Given the description of an element on the screen output the (x, y) to click on. 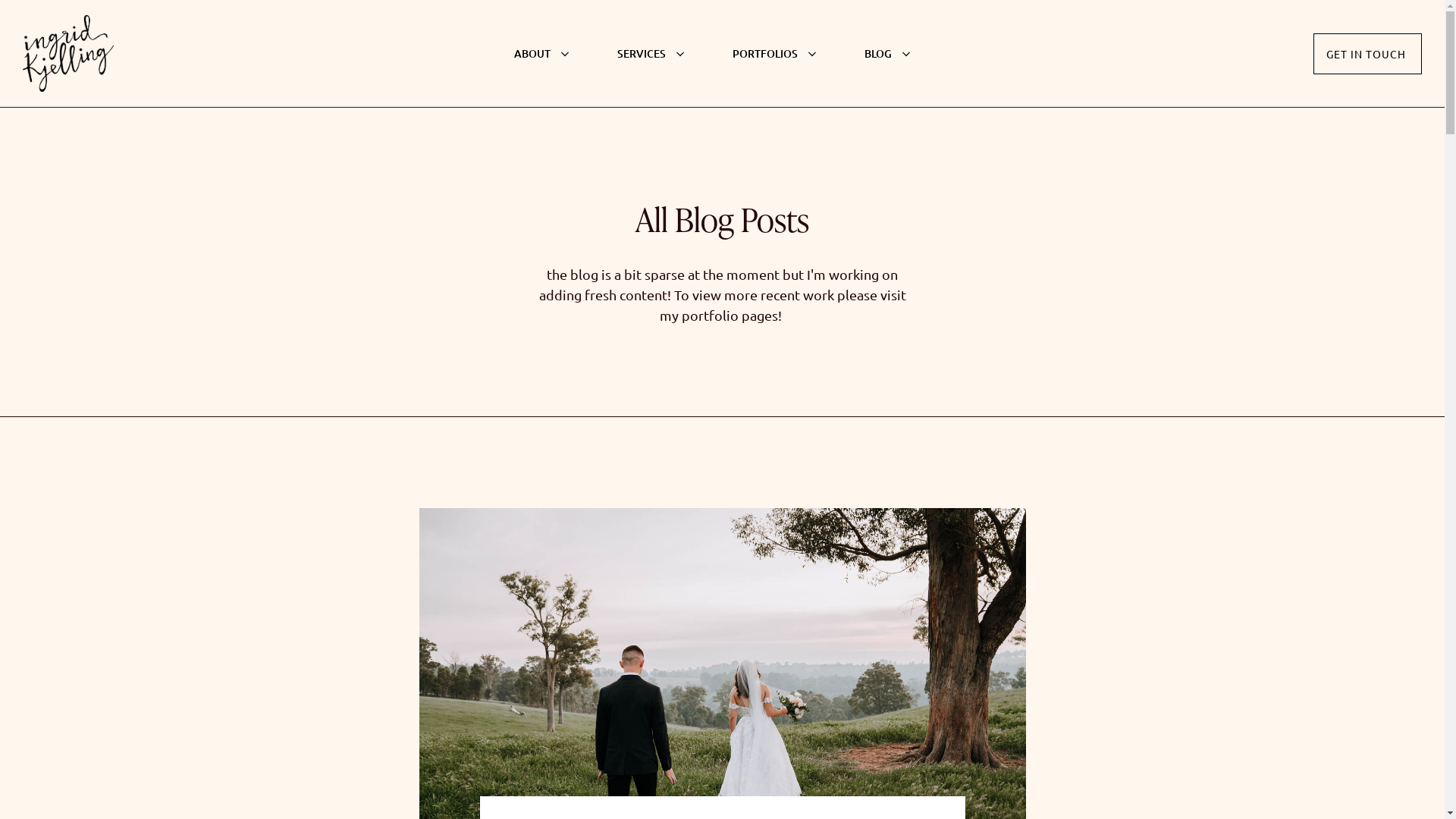
GET IN TOUCH  Element type: text (1367, 53)
